Given the description of an element on the screen output the (x, y) to click on. 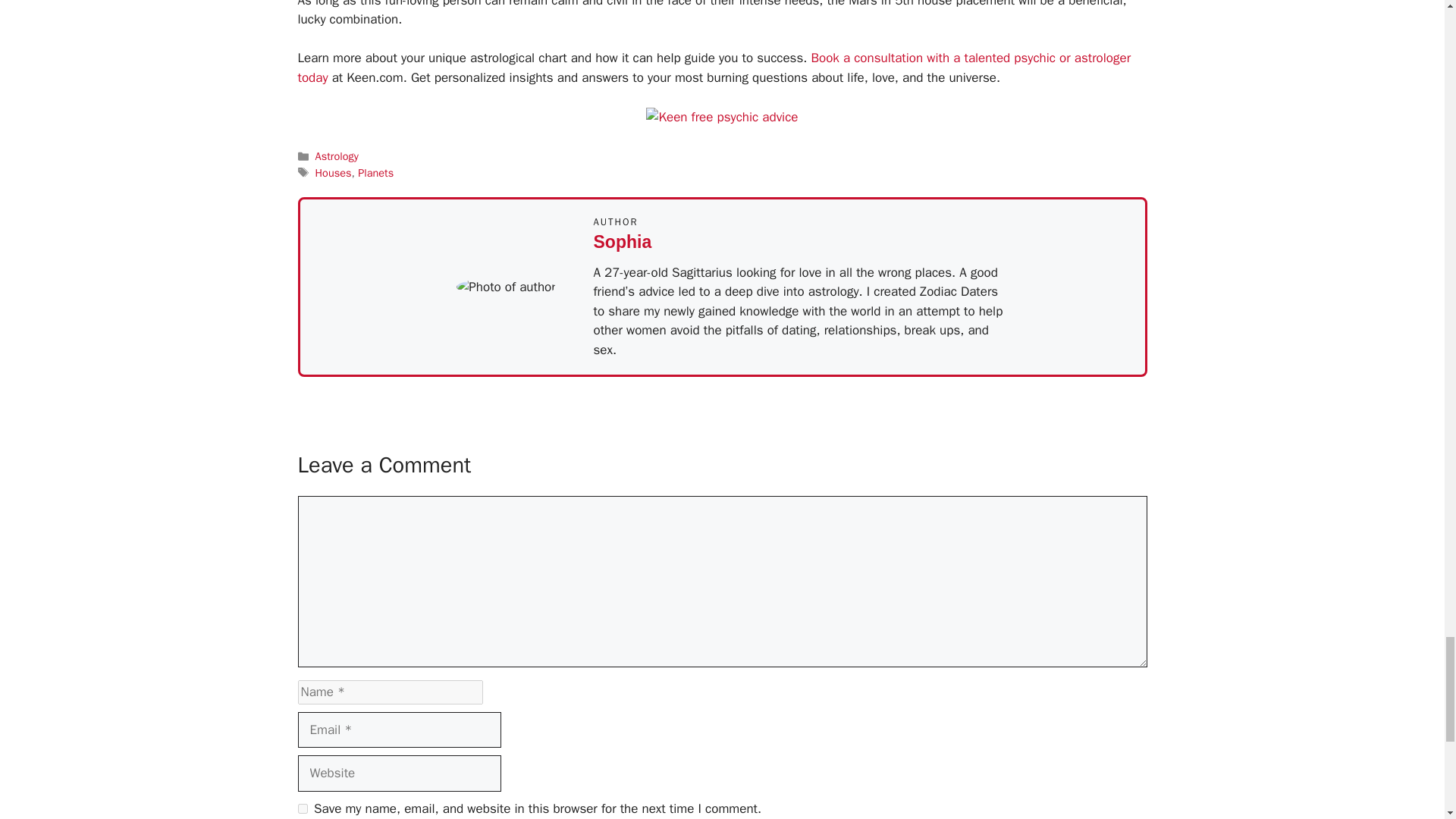
Astrology (336, 155)
yes (302, 808)
Houses (333, 172)
IR - woman 300x250 Love Chat 3Free (721, 117)
Planets (375, 172)
Sophia (621, 241)
